Given the description of an element on the screen output the (x, y) to click on. 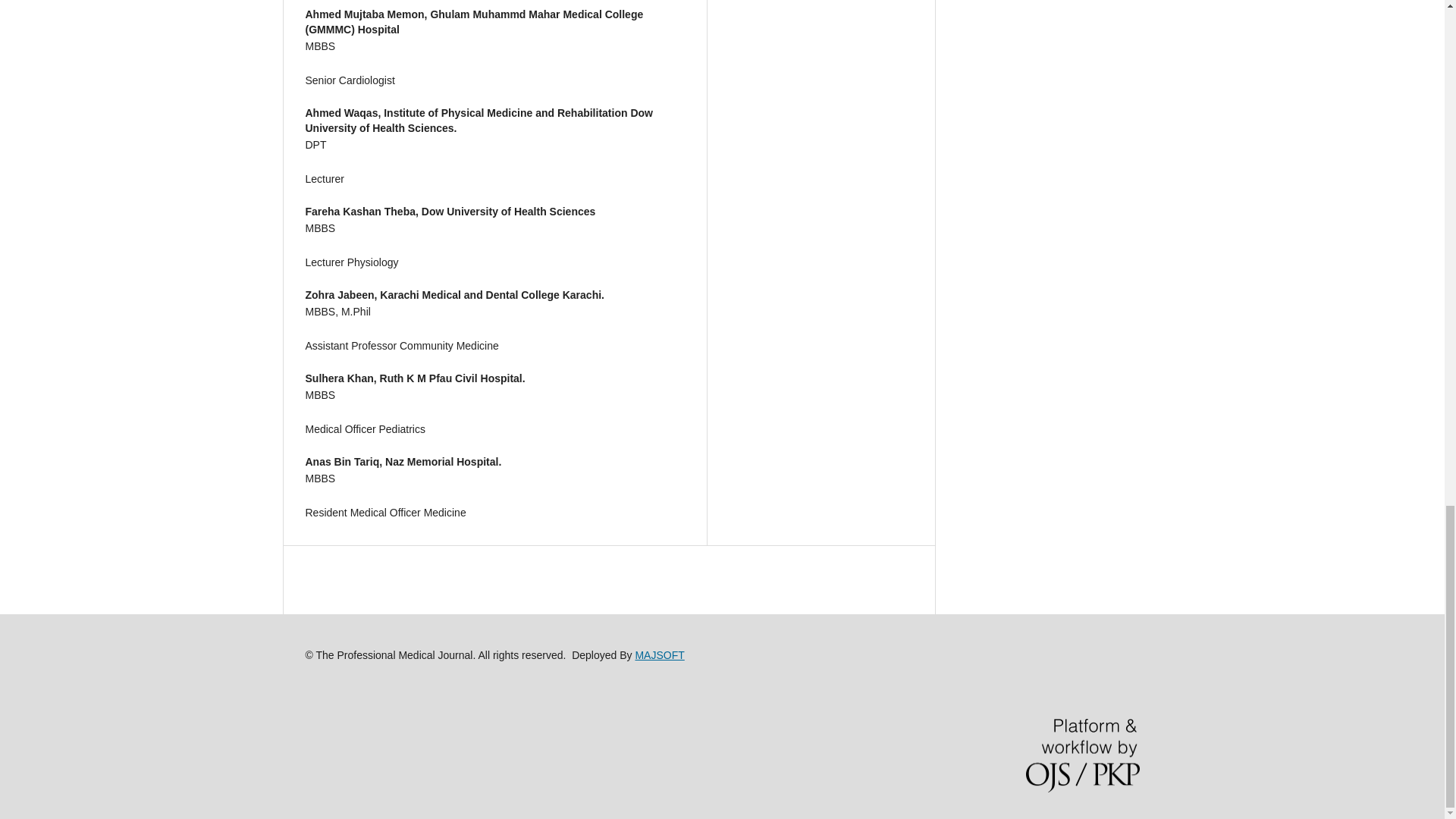
MAJSOFT (659, 654)
